Given the description of an element on the screen output the (x, y) to click on. 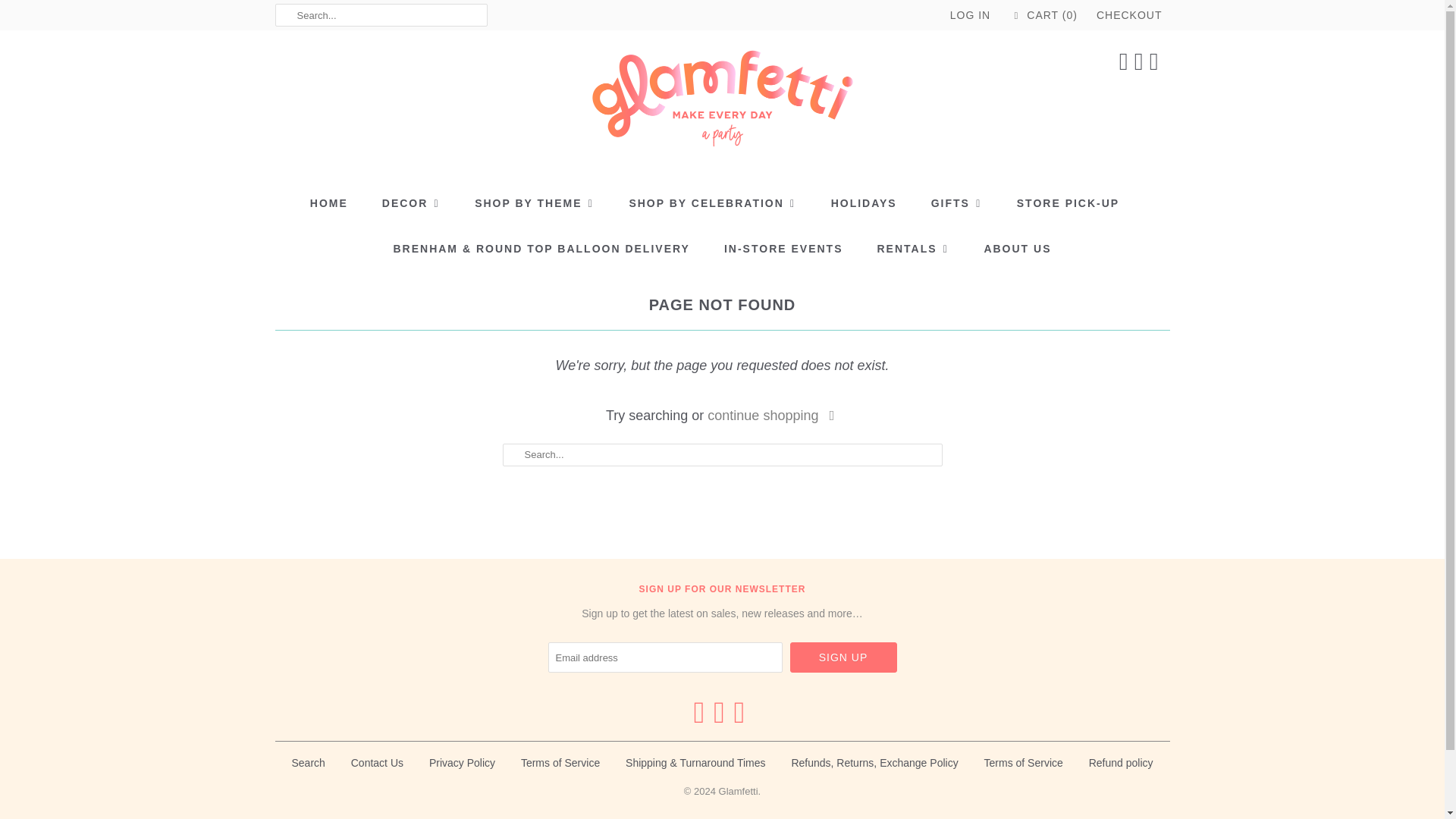
LOG IN (970, 15)
CHECKOUT (1128, 15)
Glamfetti (722, 102)
Sign Up (843, 657)
